Given the description of an element on the screen output the (x, y) to click on. 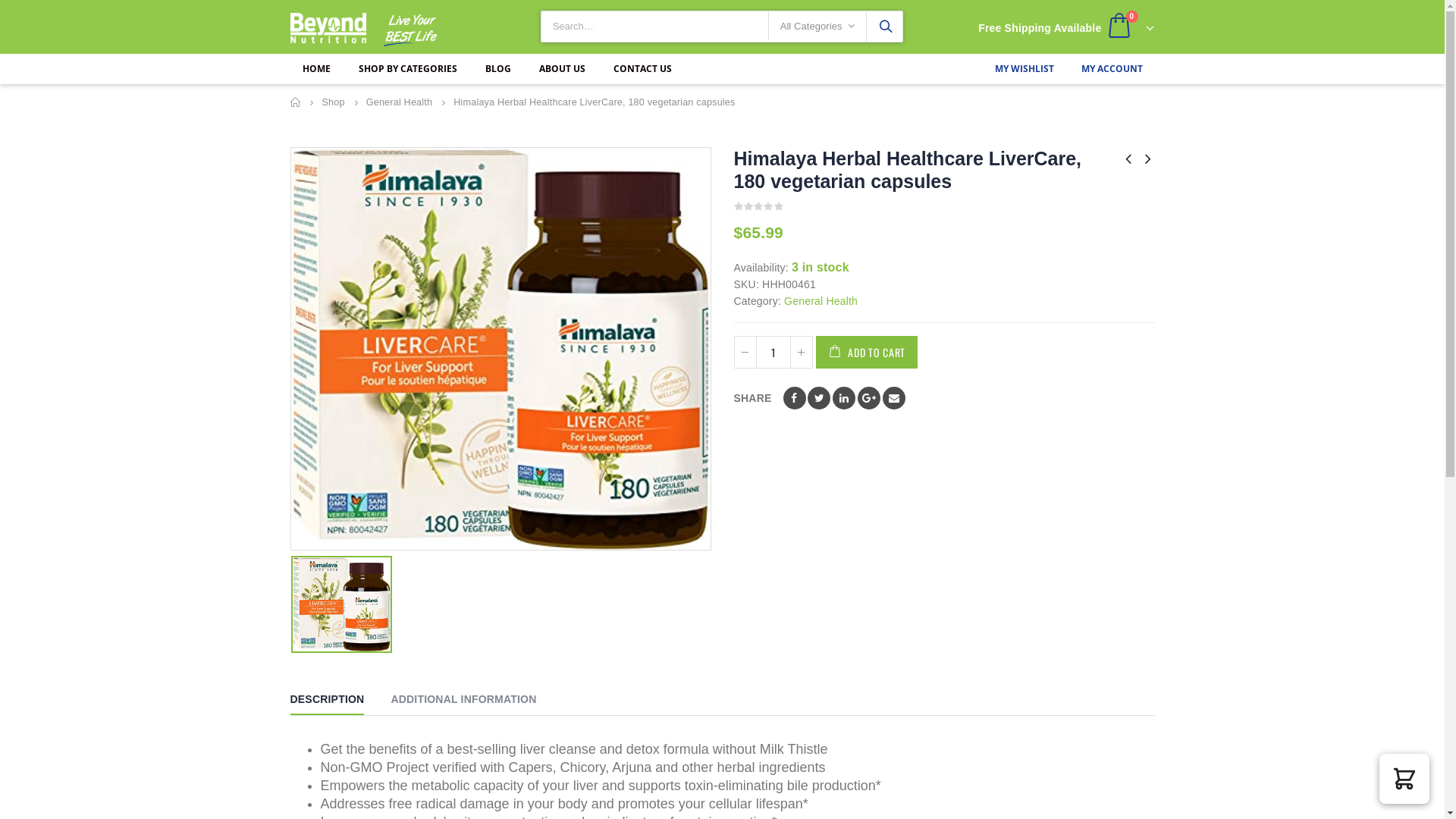
Twitter Element type: text (818, 397)
Google + Element type: text (868, 397)
CONTACT US Element type: text (641, 68)
+ Element type: text (801, 351)
Beyond Nutrition - Live your best life! Element type: hover (327, 27)
General Health Element type: text (399, 102)
Add to Wishlist Element type: text (929, 351)
Go to Home Page Element type: hover (294, 102)
MY ACCOUNT Element type: text (1111, 68)
MY WISHLIST Element type: text (1024, 68)
General Health Element type: text (820, 300)
Facebook Element type: text (794, 397)
Search Element type: hover (884, 25)
BLOG Element type: text (498, 68)
LinkedIn Element type: text (843, 397)
HOME Element type: text (315, 68)
Shop Element type: text (332, 102)
- Element type: text (745, 351)
ADD TO CART Element type: text (866, 351)
Qty Element type: hover (773, 351)
ABOUT US Element type: text (561, 68)
Email Element type: text (893, 397)
SHOP BY CATEGORIES Element type: text (406, 68)
